Given the description of an element on the screen output the (x, y) to click on. 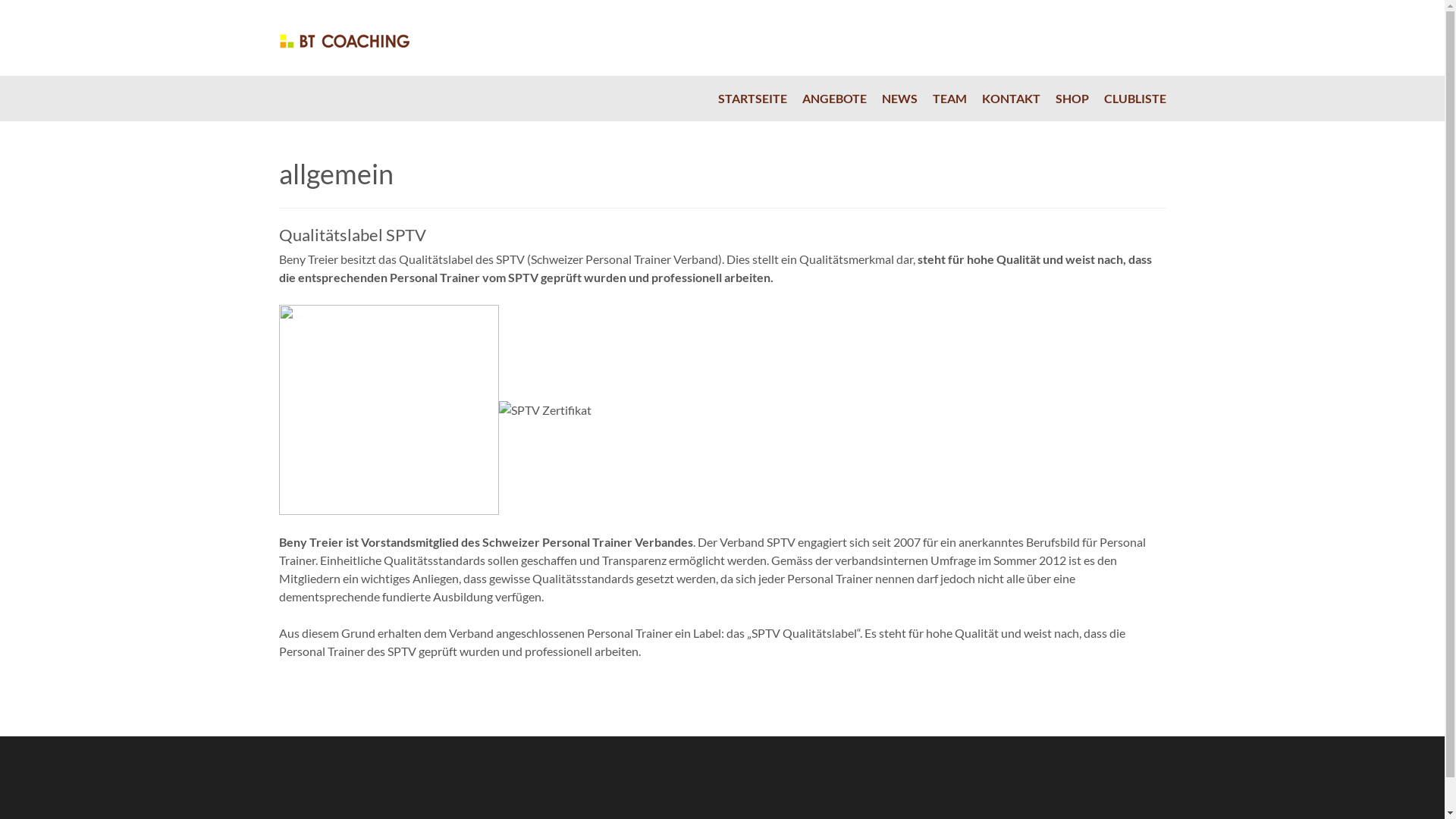
CLUBLISTE Element type: text (1131, 98)
SHOP Element type: text (1072, 98)
ANGEBOTE Element type: text (834, 98)
STARTSEITE Element type: text (751, 98)
KONTAKT Element type: text (1010, 98)
NEWS Element type: text (898, 98)
TEAM Element type: text (949, 98)
